Given the description of an element on the screen output the (x, y) to click on. 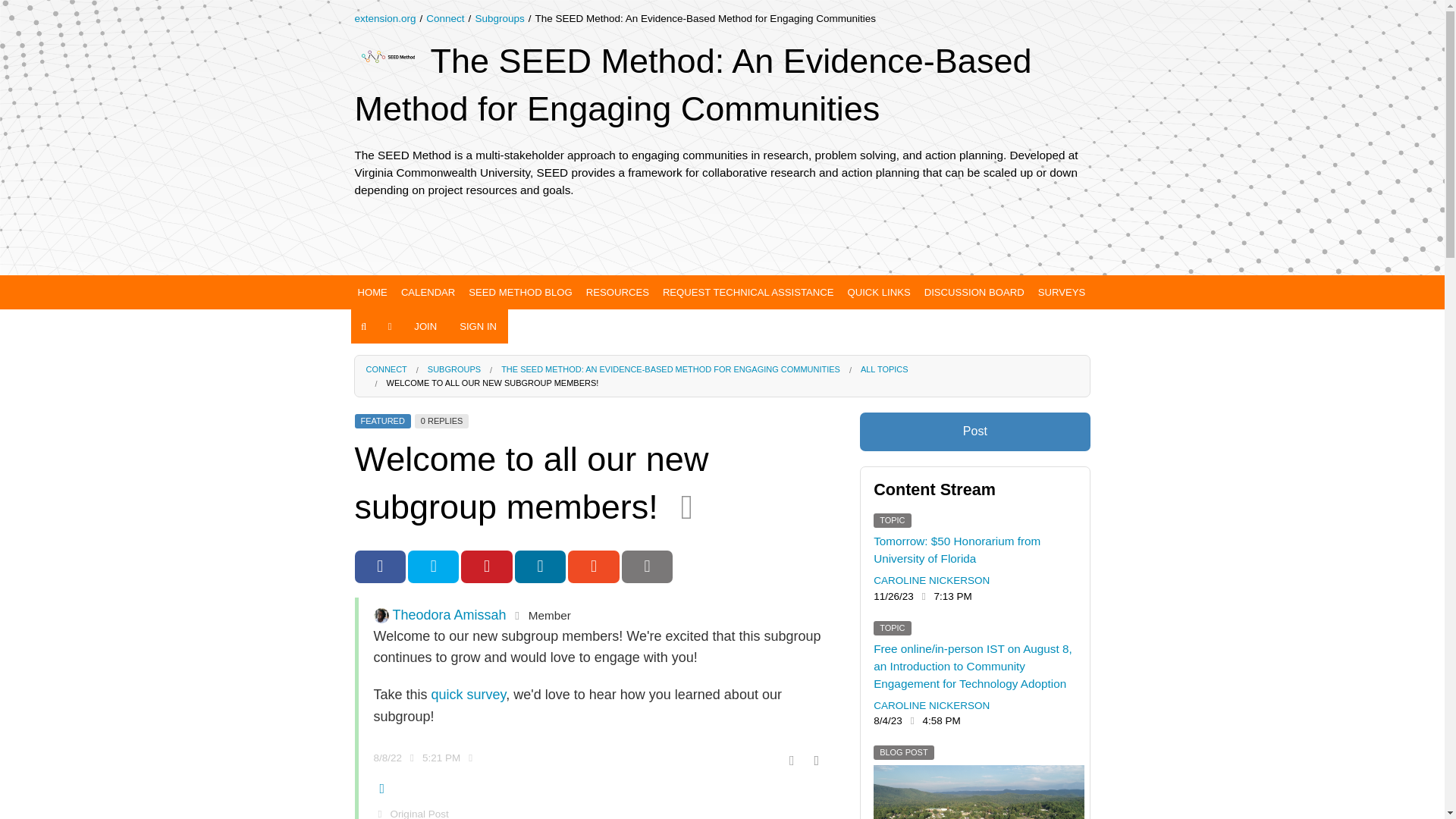
SEED METHOD BROCHURE (886, 324)
REQUEST TECHNICAL ASSISTANCE (748, 292)
FILES (625, 442)
CALENDAR (427, 292)
ALL SETS (625, 354)
Subgroups (499, 18)
VIDEOS (625, 383)
VIEW ALL (625, 324)
SEED METHOD BLOG (519, 292)
COLLECTIONS (527, 354)
RESOURCES (617, 292)
SEED METHOD TOOLKIT (886, 354)
Connect (445, 18)
HOME (371, 292)
